Given the description of an element on the screen output the (x, y) to click on. 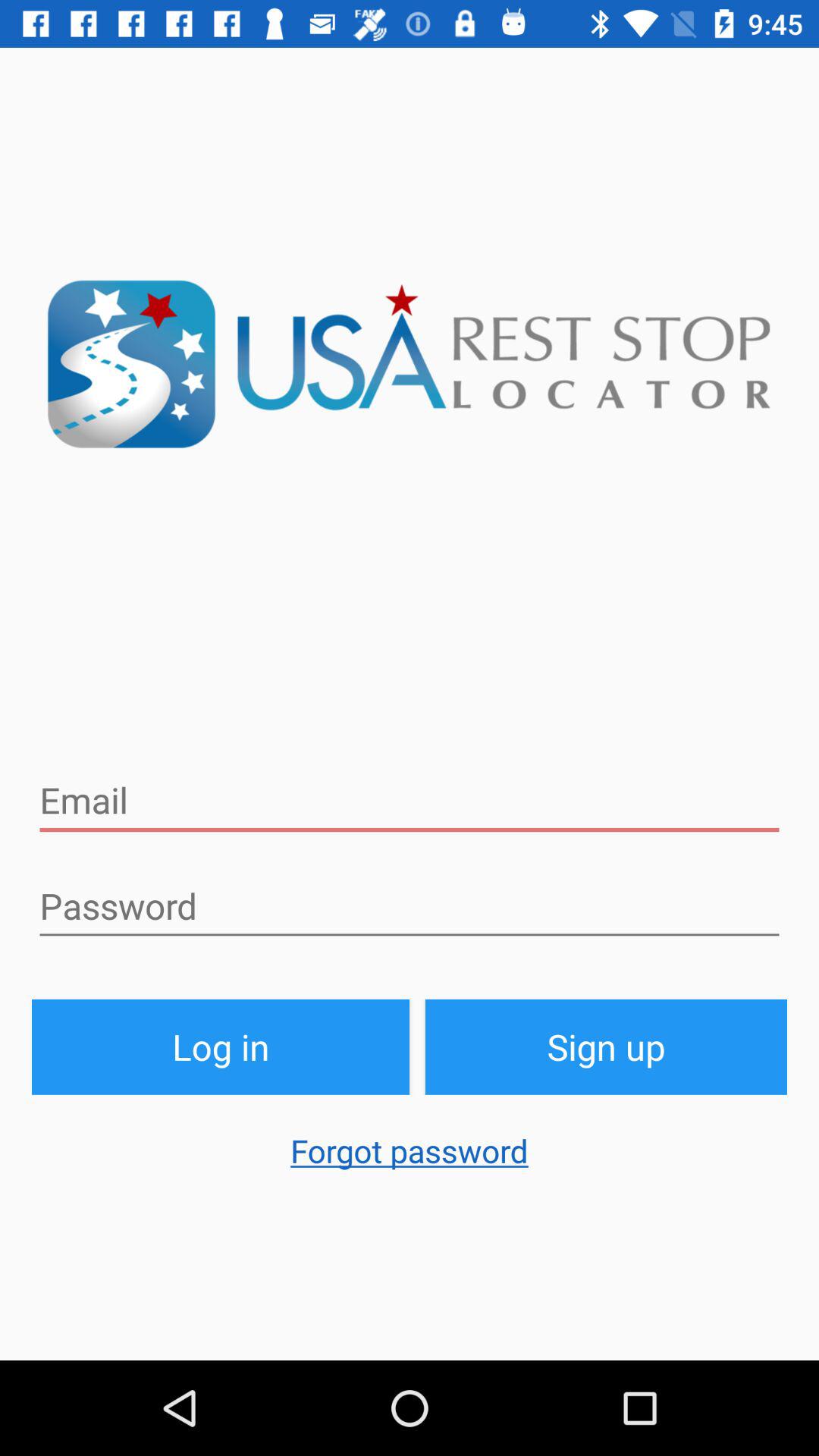
scroll until log in icon (220, 1046)
